Given the description of an element on the screen output the (x, y) to click on. 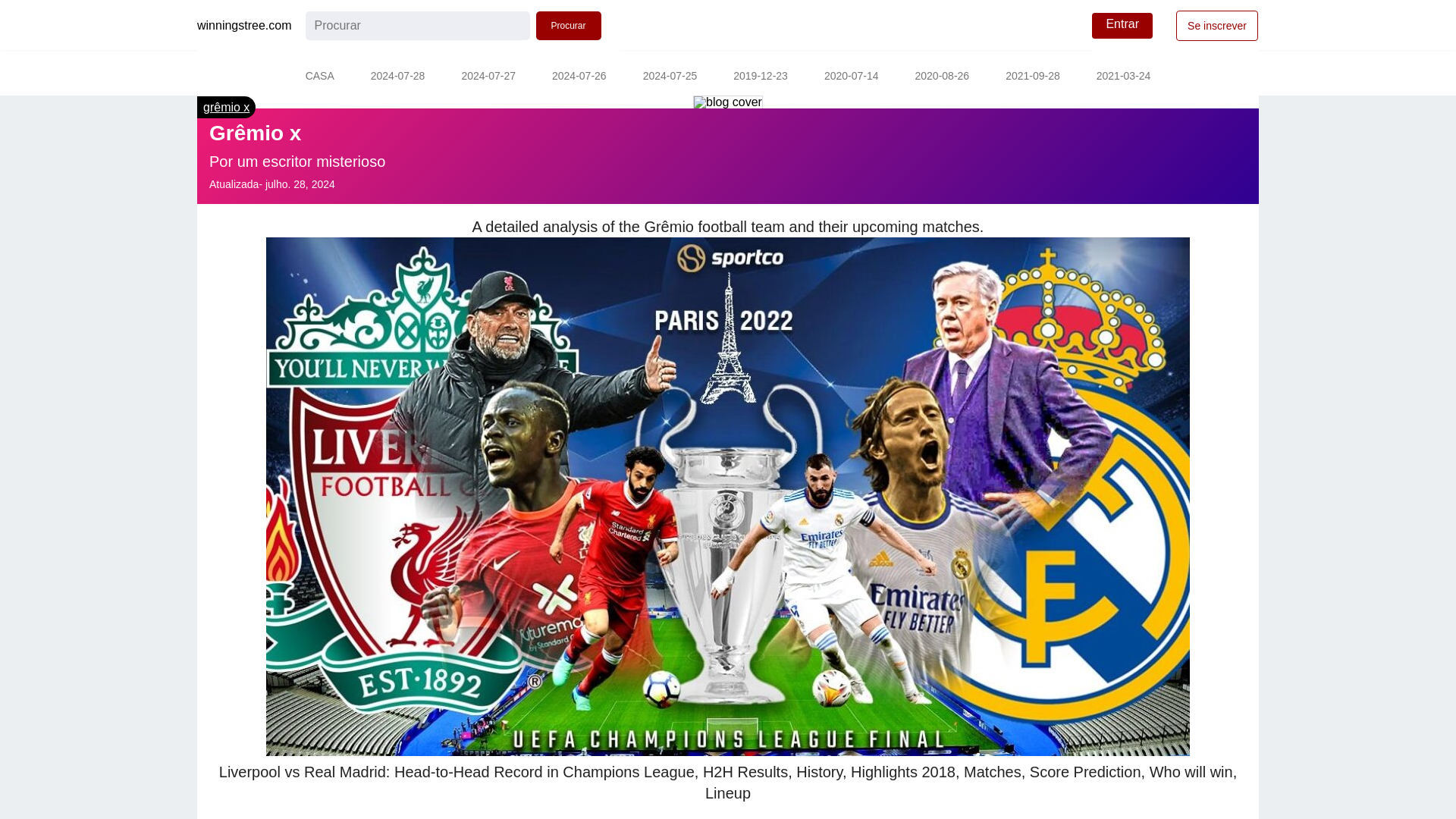
2024-07-27 (488, 76)
winningstree.com (244, 25)
2021-03-24 (1123, 76)
2020-08-26 (941, 76)
Entrar (1122, 25)
2024-07-25 (670, 76)
2021-09-28 (1032, 76)
2024-07-28 (398, 76)
2019-12-23 (760, 76)
Procurar (568, 25)
2024-07-26 (579, 76)
CASA (319, 76)
2020-07-14 (851, 76)
